Given the description of an element on the screen output the (x, y) to click on. 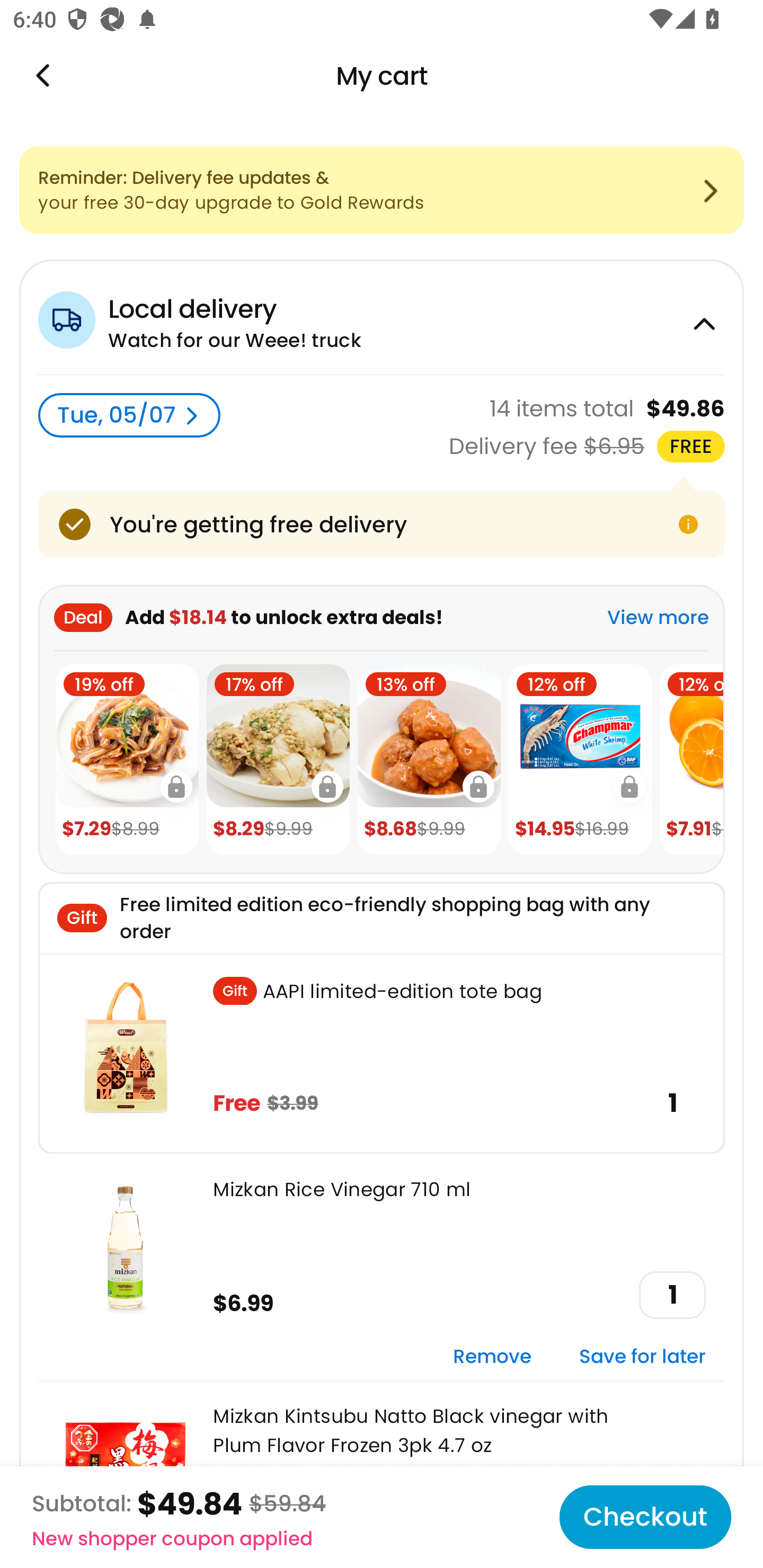
Local delivery Watch for our Weee! truck (381, 317)
Tue, 05/07 (129, 415)
You're getting free delivery (381, 524)
19% off $7.29 $8.99 (126, 759)
17% off $8.29 $9.99 (277, 759)
13% off $8.68 $9.99 (428, 759)
12% off $14.95 $16.99 (579, 759)
. AAPI limited-edition tote bag Free $3.99 1 (381, 1053)
1 (672, 1294)
Remove (491, 1356)
Save for later (642, 1356)
Checkout (644, 1516)
